Given the description of an element on the screen output the (x, y) to click on. 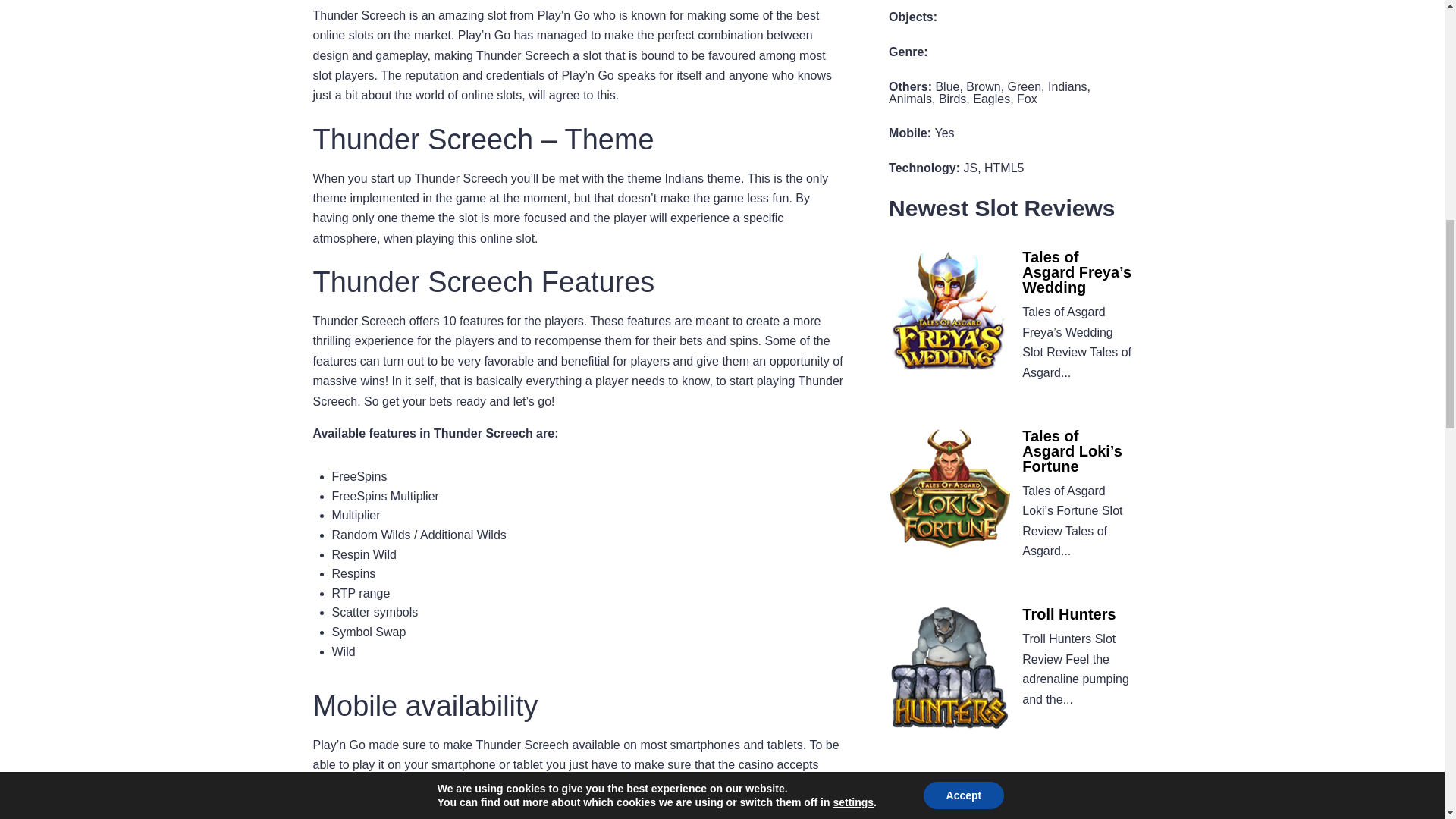
Troll Hunters (1068, 617)
